Given the description of an element on the screen output the (x, y) to click on. 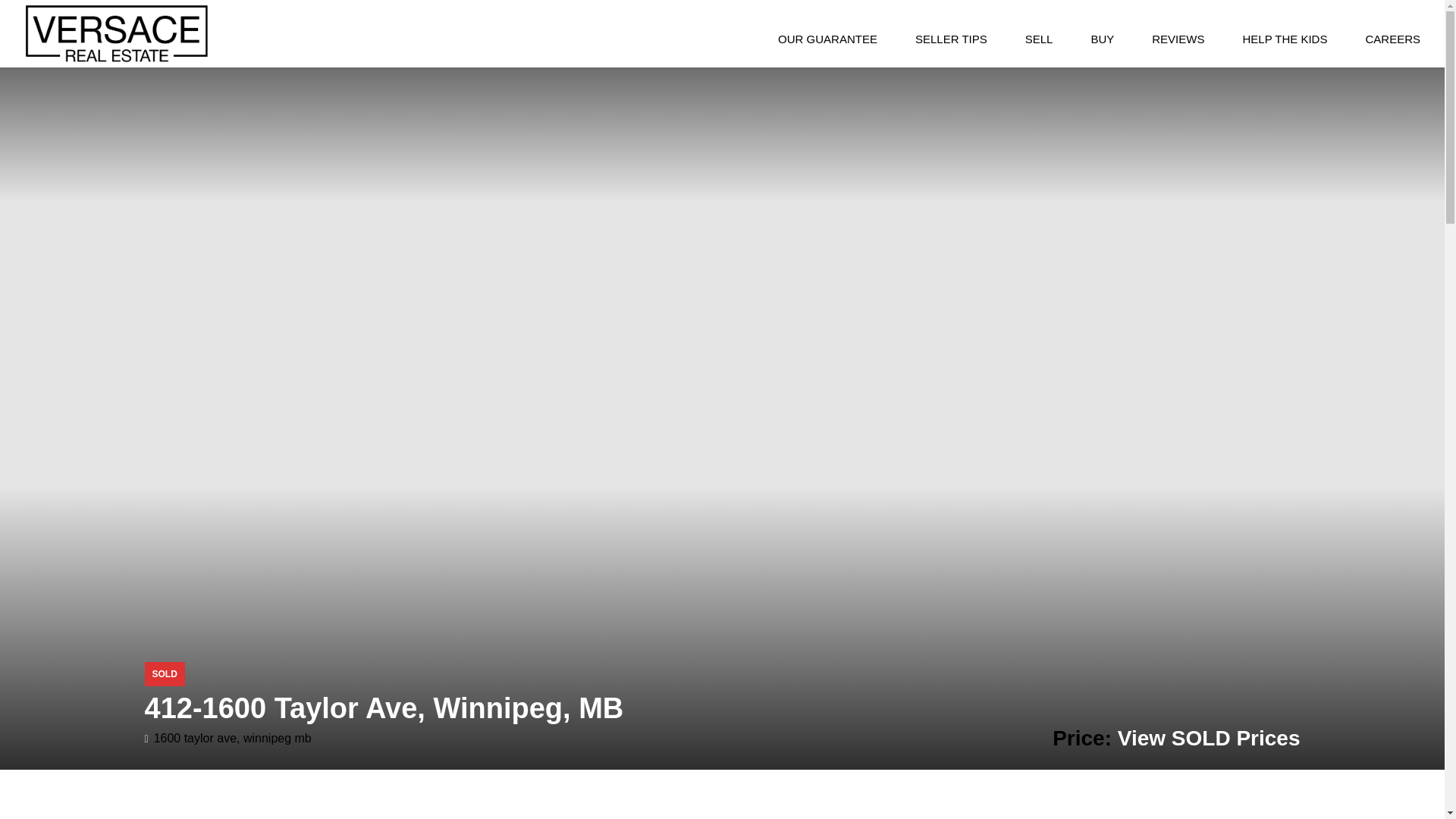
CAREERS (1385, 39)
HELP THE KIDS (1284, 39)
SELLER TIPS (951, 39)
BUY (1102, 39)
SELL (1039, 39)
OUR GUARANTEE (827, 39)
REVIEWS (1178, 39)
